Given the description of an element on the screen output the (x, y) to click on. 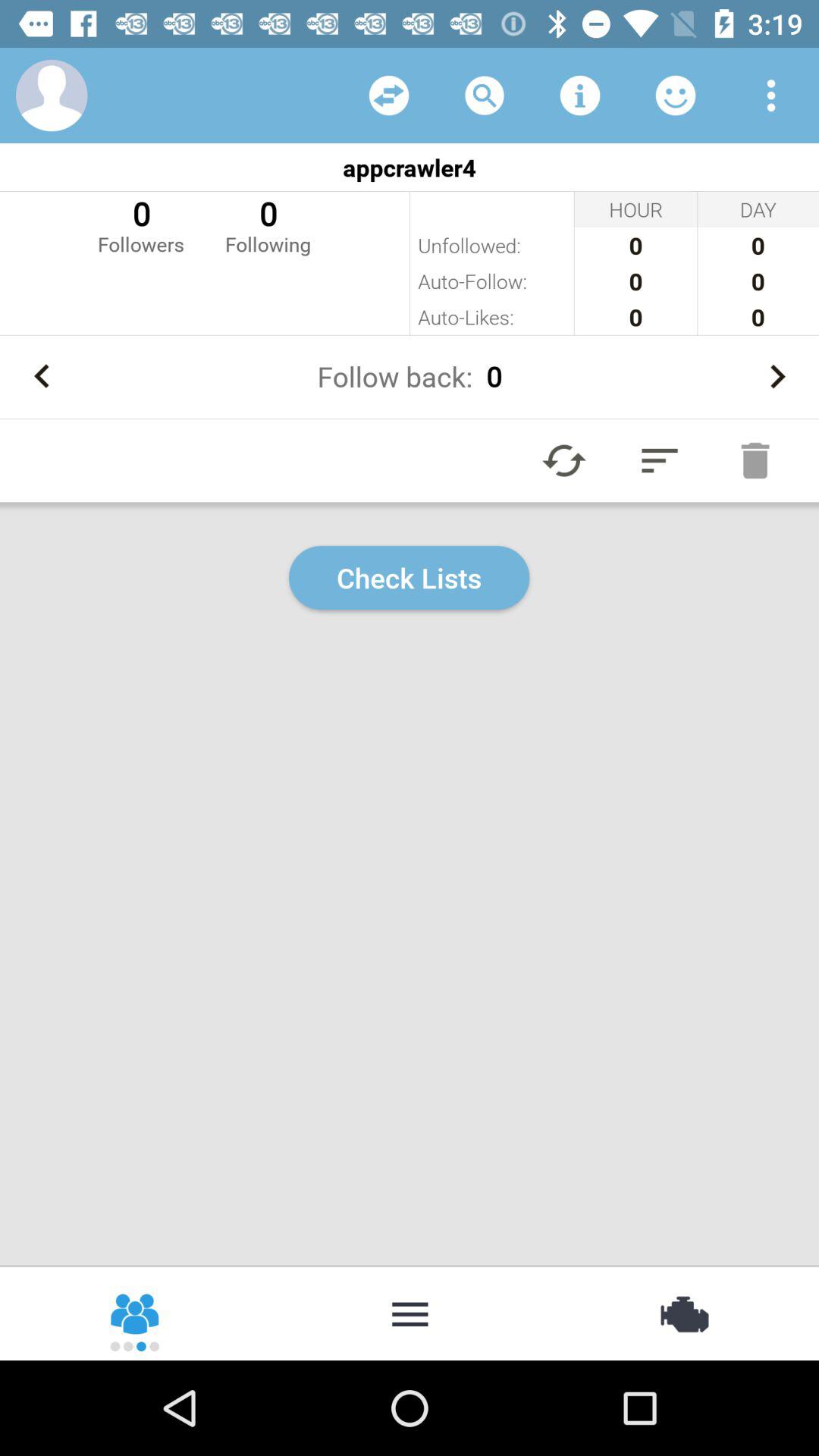
click icon to the left of follow back:  0 icon (41, 376)
